Given the description of an element on the screen output the (x, y) to click on. 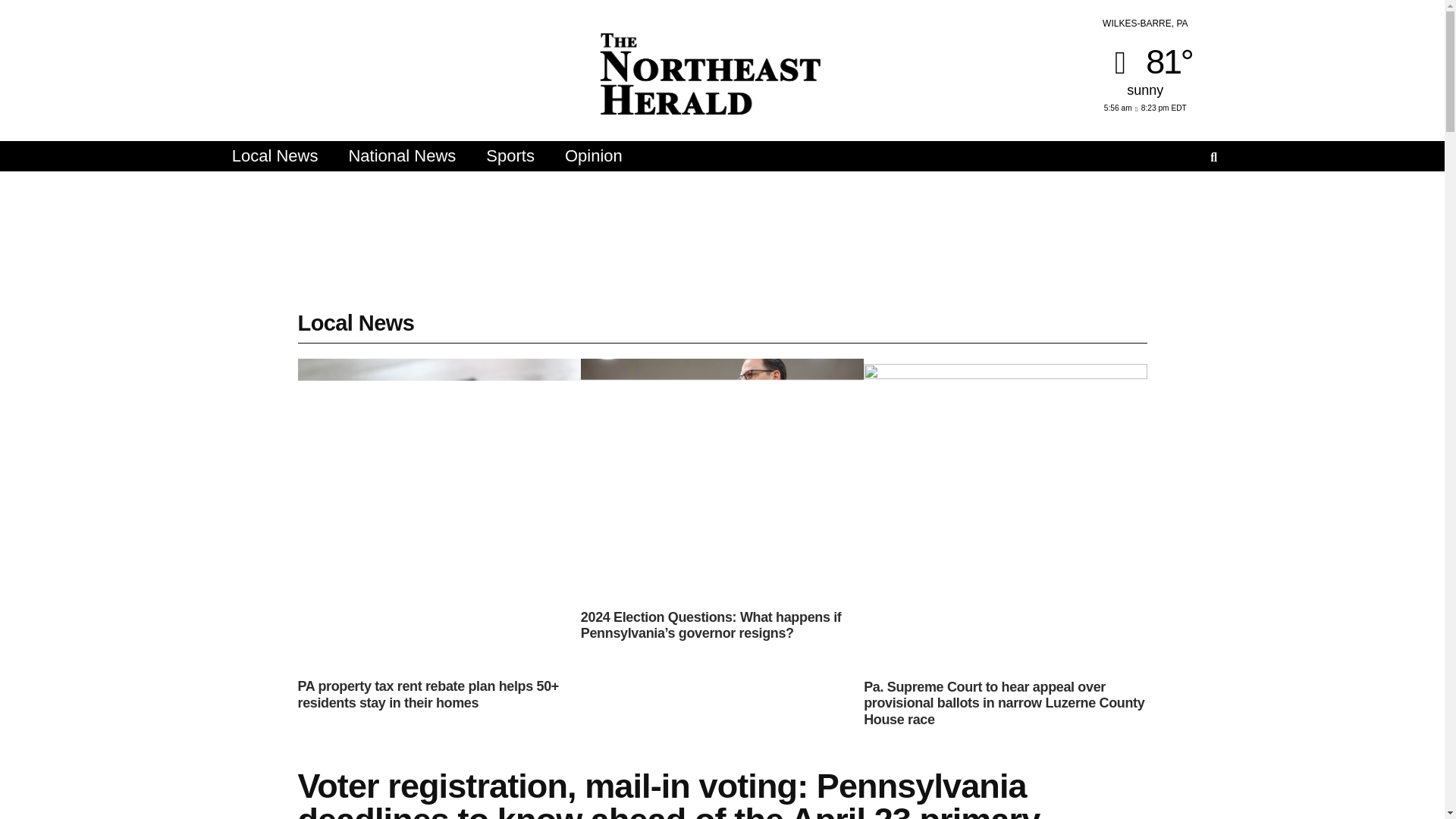
Opinion (593, 155)
Local News (274, 155)
National News (401, 155)
Sports (510, 155)
